Given the description of an element on the screen output the (x, y) to click on. 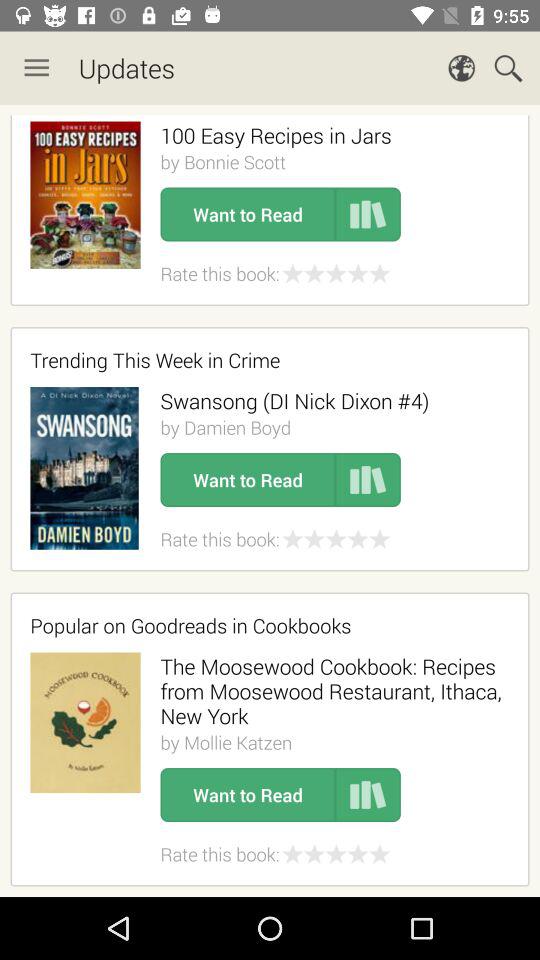
select the popular on goodreads icon (263, 625)
